Given the description of an element on the screen output the (x, y) to click on. 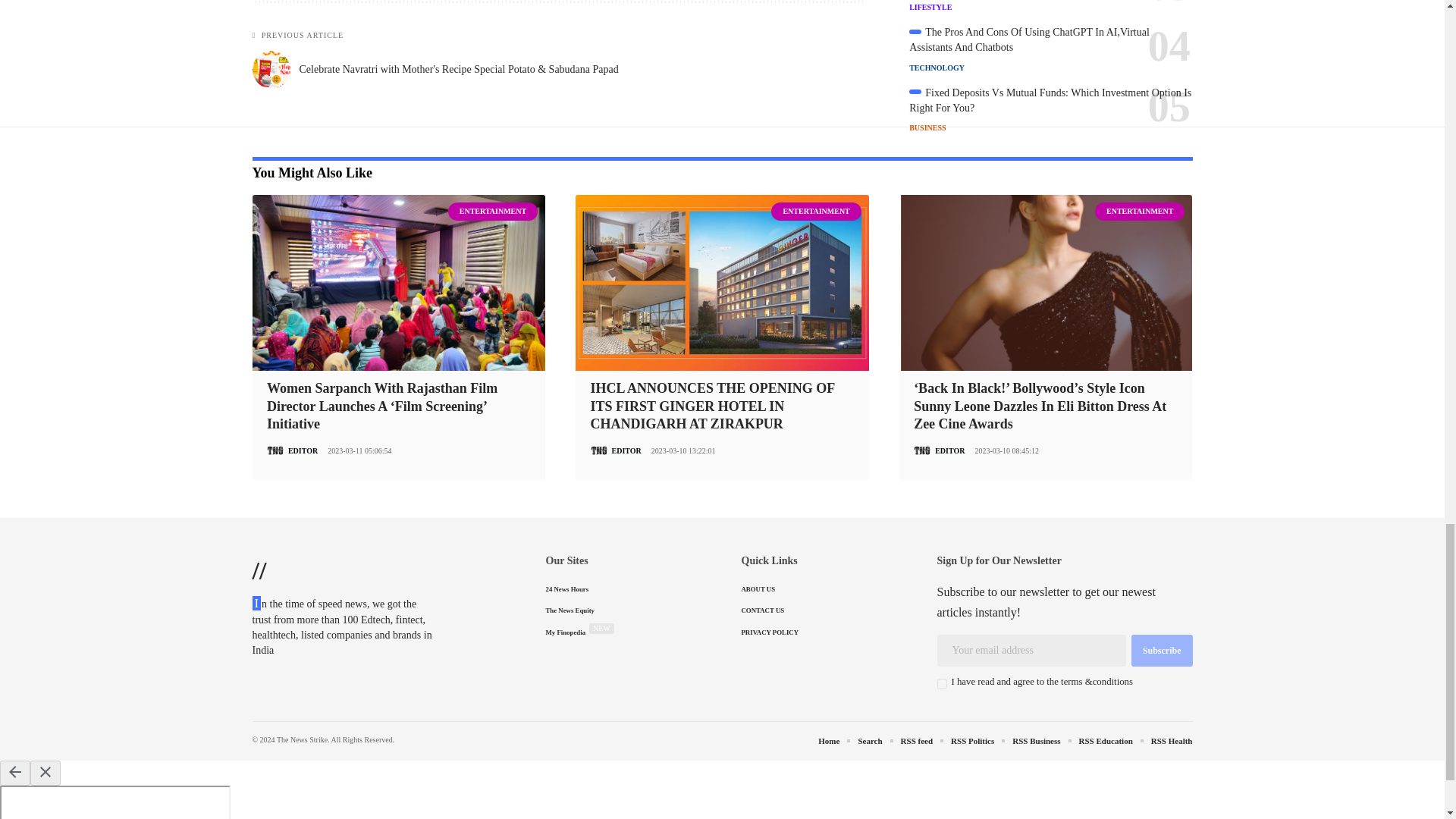
Subscribe (1161, 650)
